Given the description of an element on the screen output the (x, y) to click on. 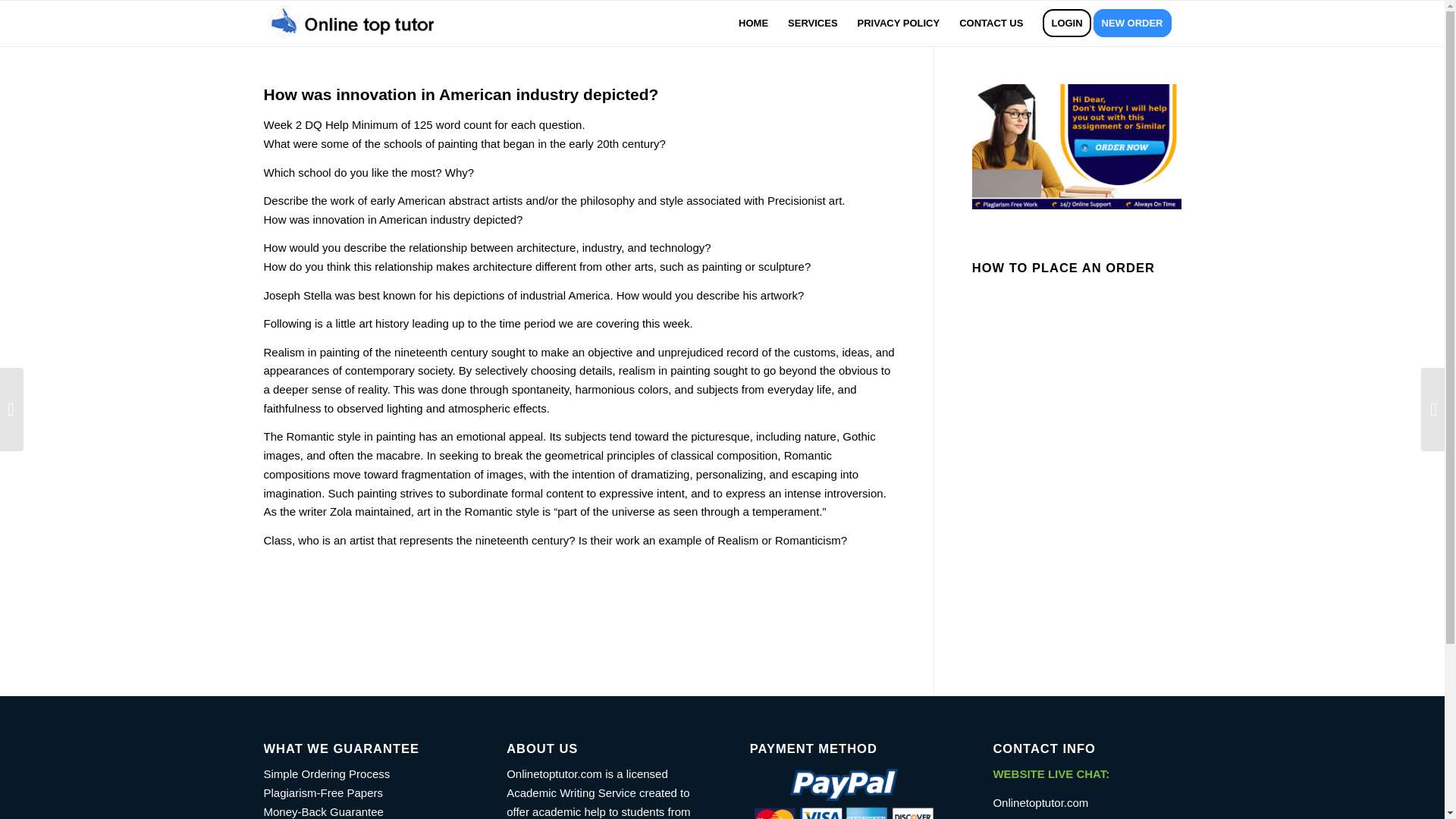
SERVICES (812, 22)
CONTACT US (990, 22)
HOME (753, 22)
NEW ORDER (1136, 22)
LOGIN (1066, 22)
PRIVACY POLICY (898, 22)
